Given the description of an element on the screen output the (x, y) to click on. 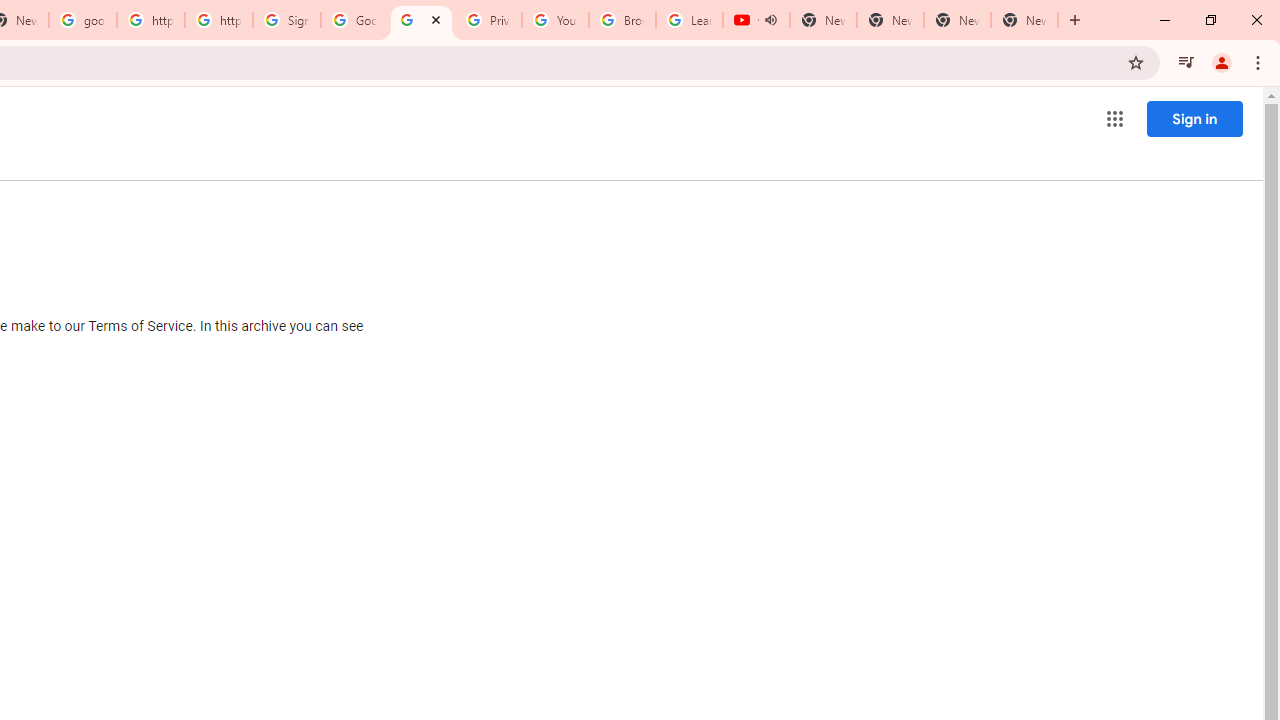
New Tab (1024, 20)
Mute tab (770, 20)
YouTube (555, 20)
